Given the description of an element on the screen output the (x, y) to click on. 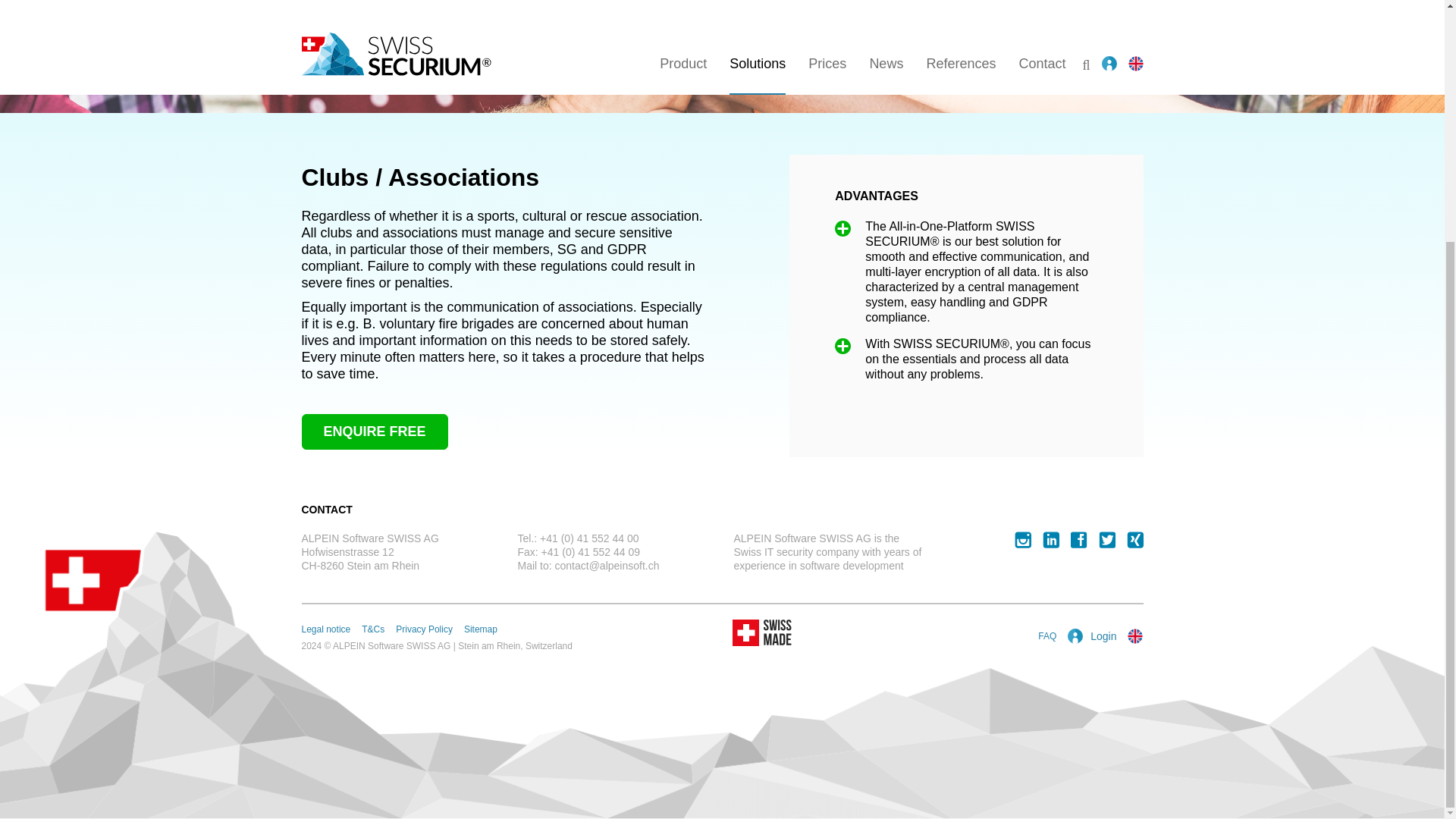
Legal notice (325, 629)
Privacy Policy (424, 629)
ENQUIRE FREE (374, 431)
